Given the description of an element on the screen output the (x, y) to click on. 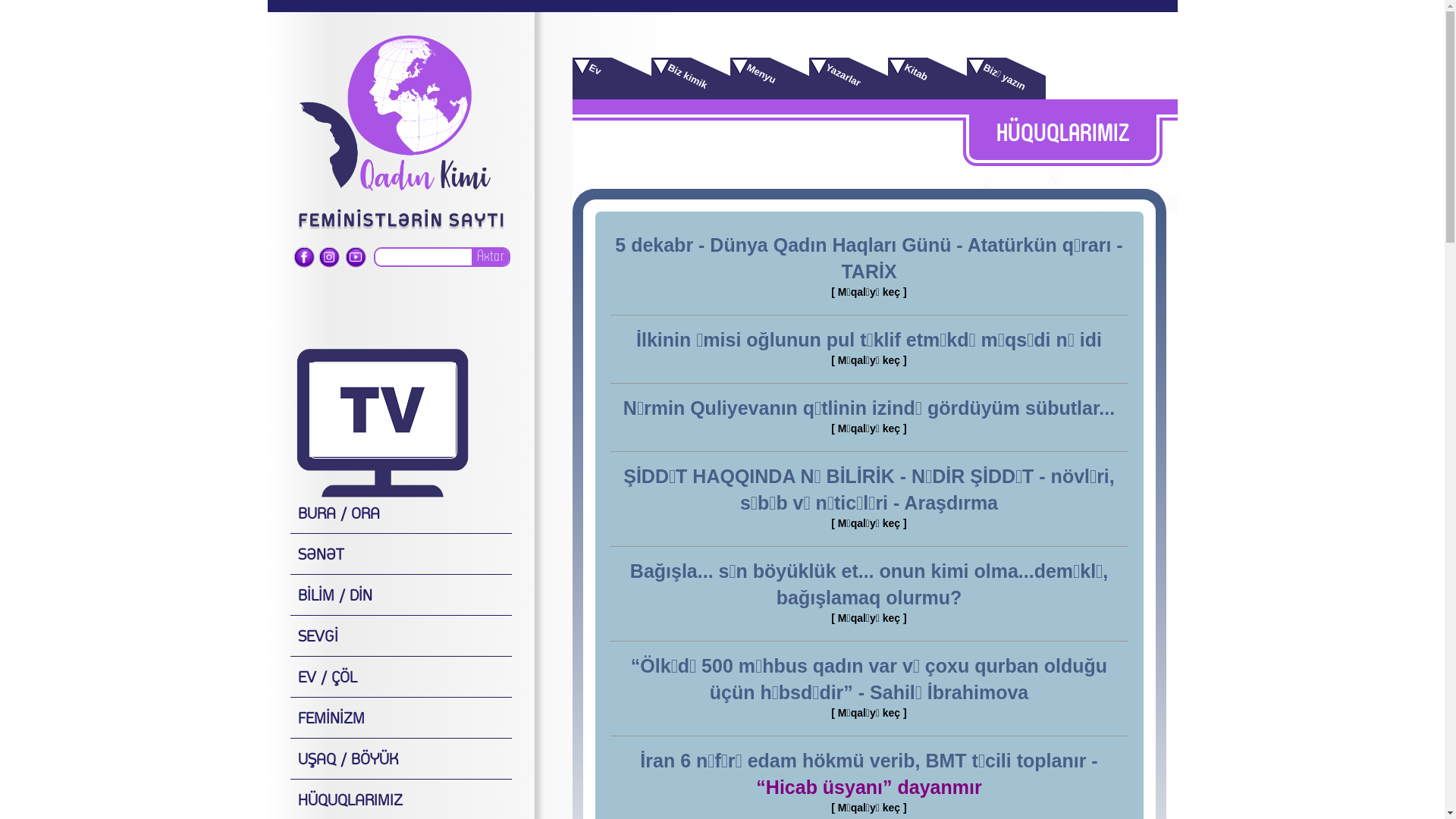
Ev Element type: text (610, 78)
Menyu Element type: text (768, 78)
Axtar Element type: text (489, 257)
BURA / ORA Element type: text (400, 514)
Biz kimik Element type: text (689, 78)
Yazarlar Element type: text (847, 78)
Kitab Element type: text (926, 78)
